Given the description of an element on the screen output the (x, y) to click on. 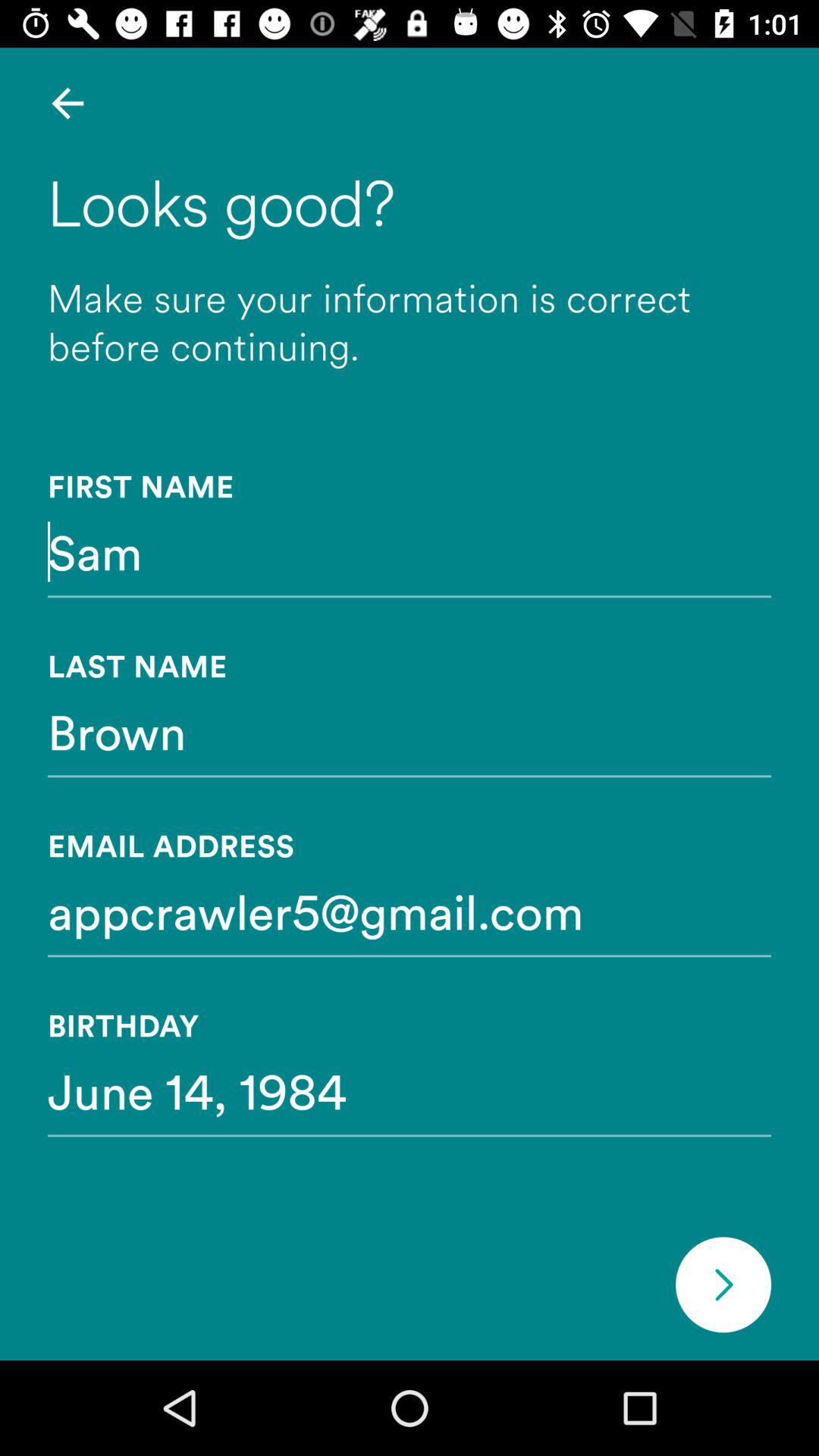
choose the item at the top left corner (67, 103)
